Given the description of an element on the screen output the (x, y) to click on. 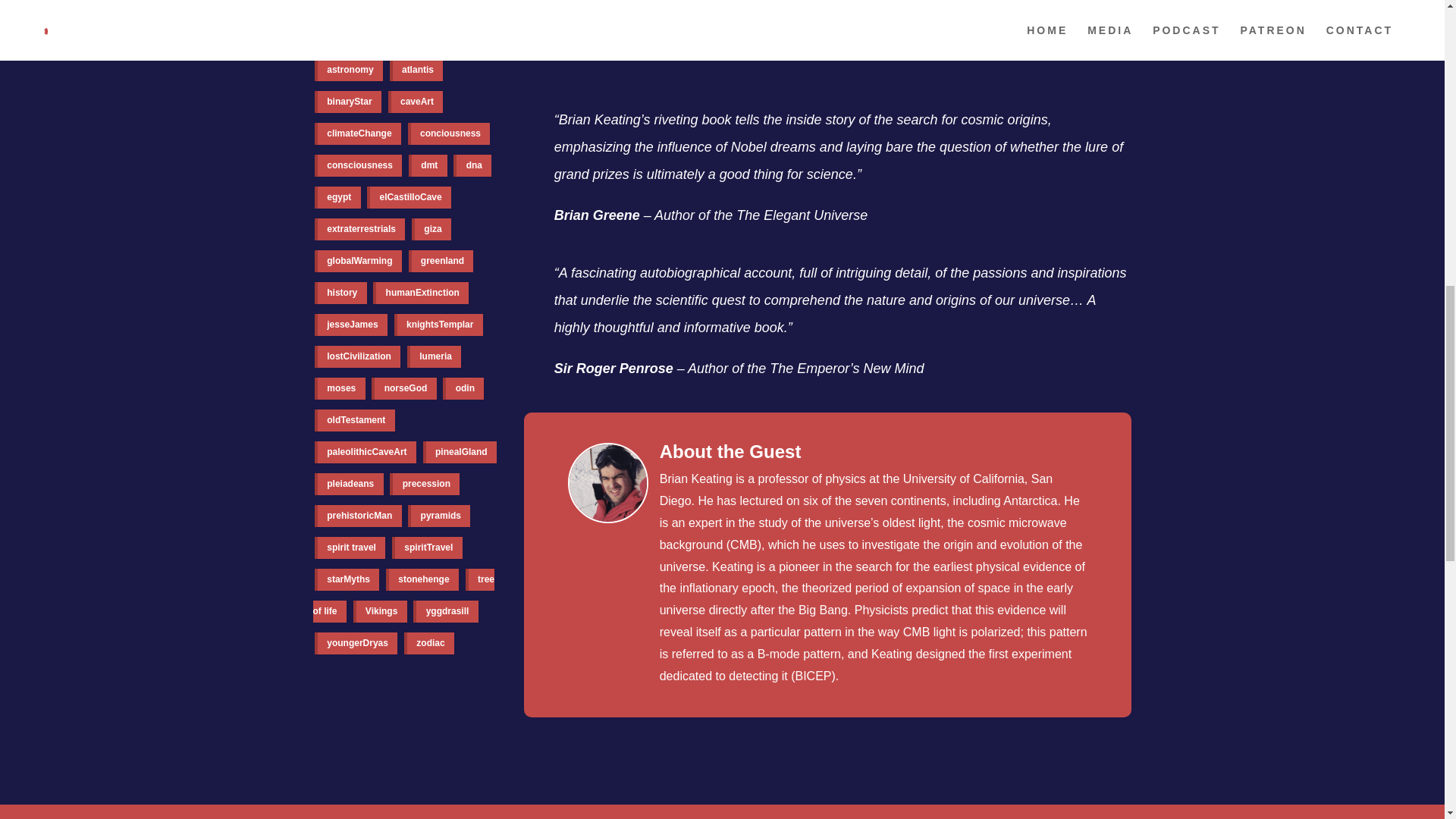
consciousness (357, 165)
giza (431, 229)
binaryStar (347, 101)
atlantis (417, 69)
greenland (441, 260)
globalWarming (357, 260)
conciousness (448, 133)
dna (472, 165)
ancientAliens (355, 8)
lumeria (434, 356)
dmt (427, 165)
humanExtinction (420, 292)
egypt (337, 197)
history (340, 292)
moses (339, 388)
